Given the description of an element on the screen output the (x, y) to click on. 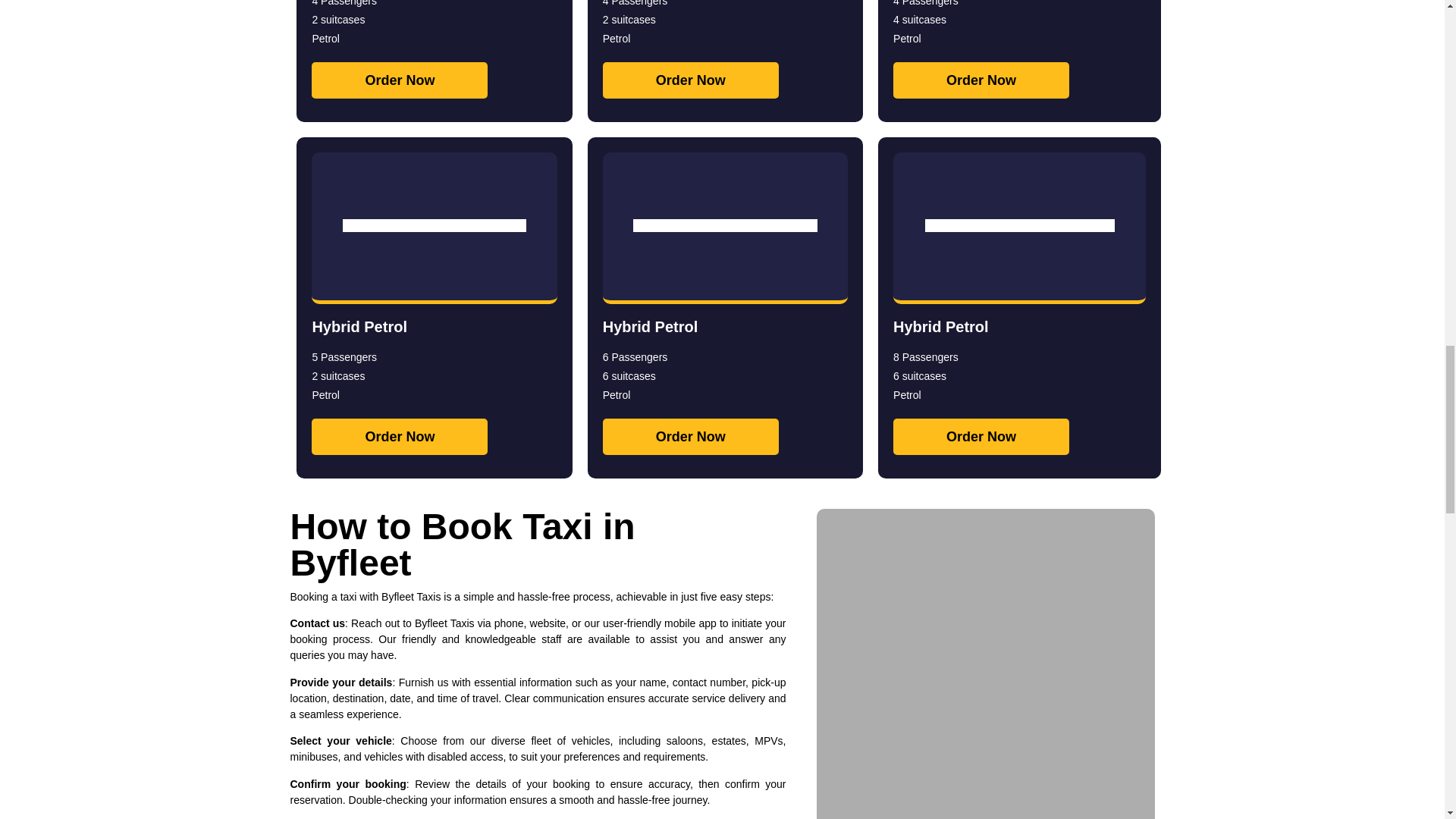
Order Now (399, 436)
Order Now (980, 80)
Order Now (690, 436)
Order Now (399, 80)
Order Now (980, 436)
Order Now (690, 80)
